Given the description of an element on the screen output the (x, y) to click on. 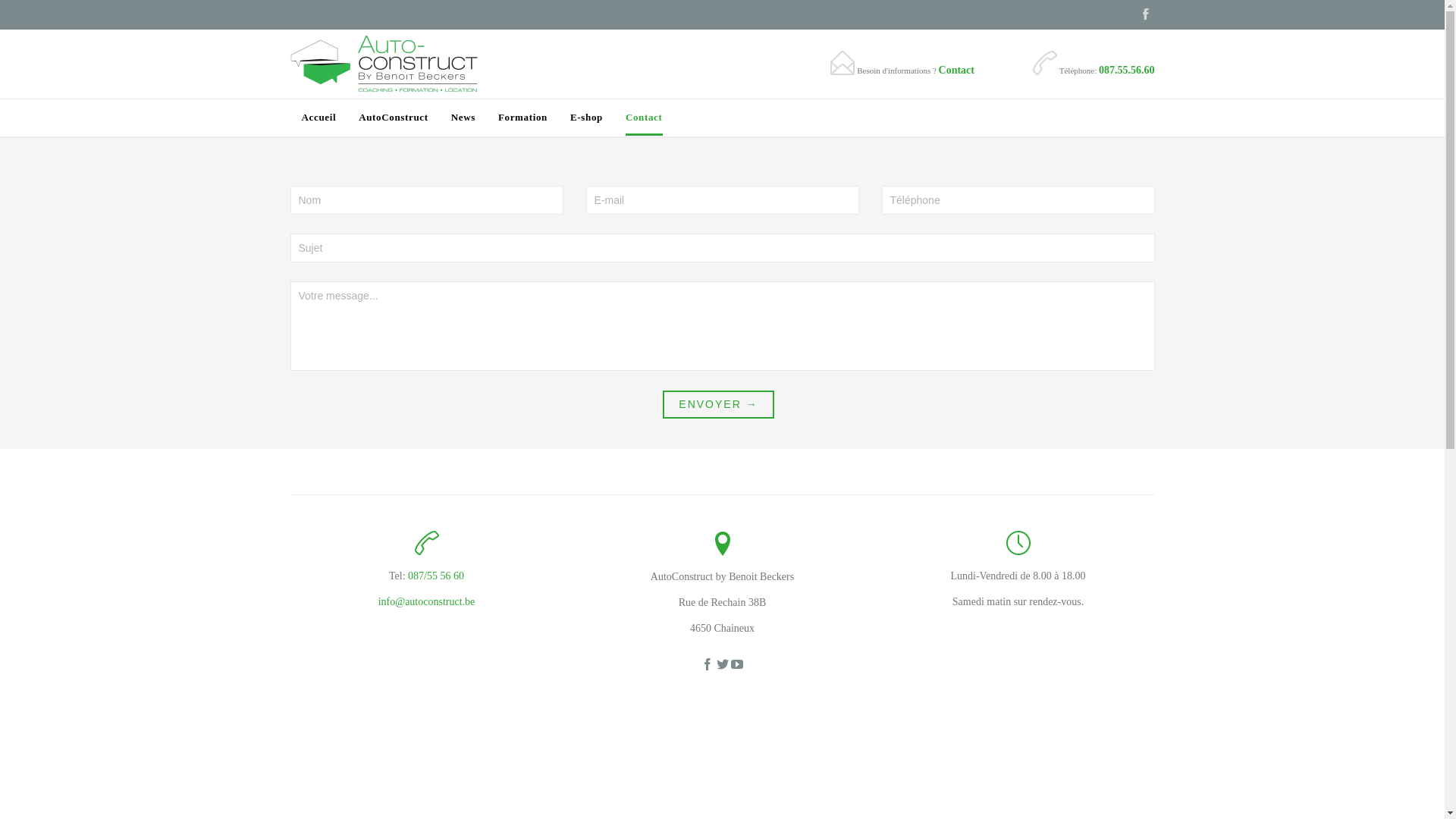
Accueil Element type: text (318, 118)
Contact Element type: text (643, 118)
Contact Element type: text (956, 69)
Autoconstruct Element type: hover (384, 63)
AutoConstruct Element type: text (393, 118)
Formation Element type: text (522, 118)
Skip to content Element type: text (721, 98)
News Element type: text (463, 118)
E-shop Element type: text (586, 118)
info@autoconstruct.be Element type: text (426, 601)
087.55.56.60 Element type: text (1126, 69)
087/55 56 60 Element type: text (435, 575)
